Given the description of an element on the screen output the (x, y) to click on. 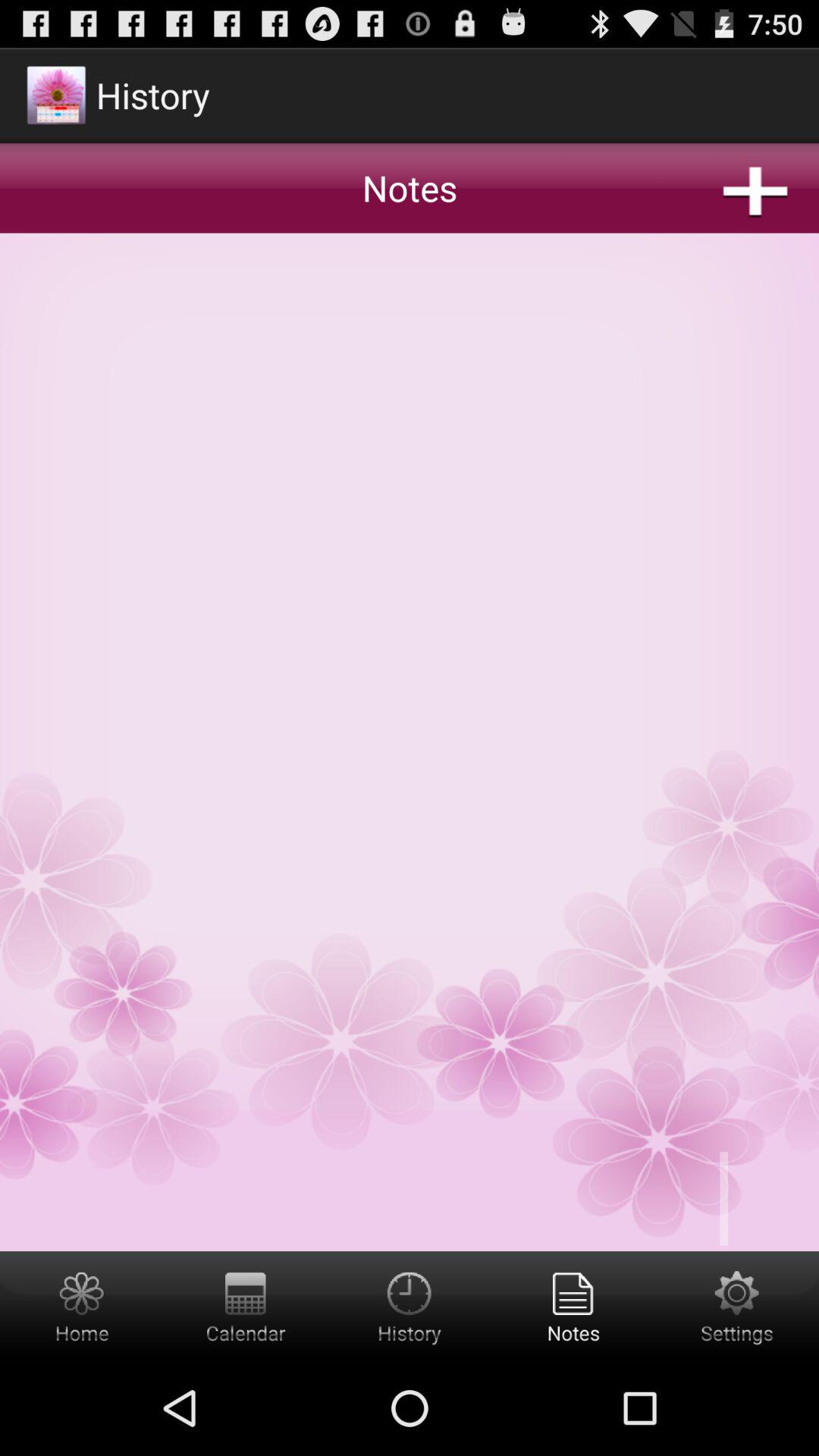
select notes (573, 1305)
